Given the description of an element on the screen output the (x, y) to click on. 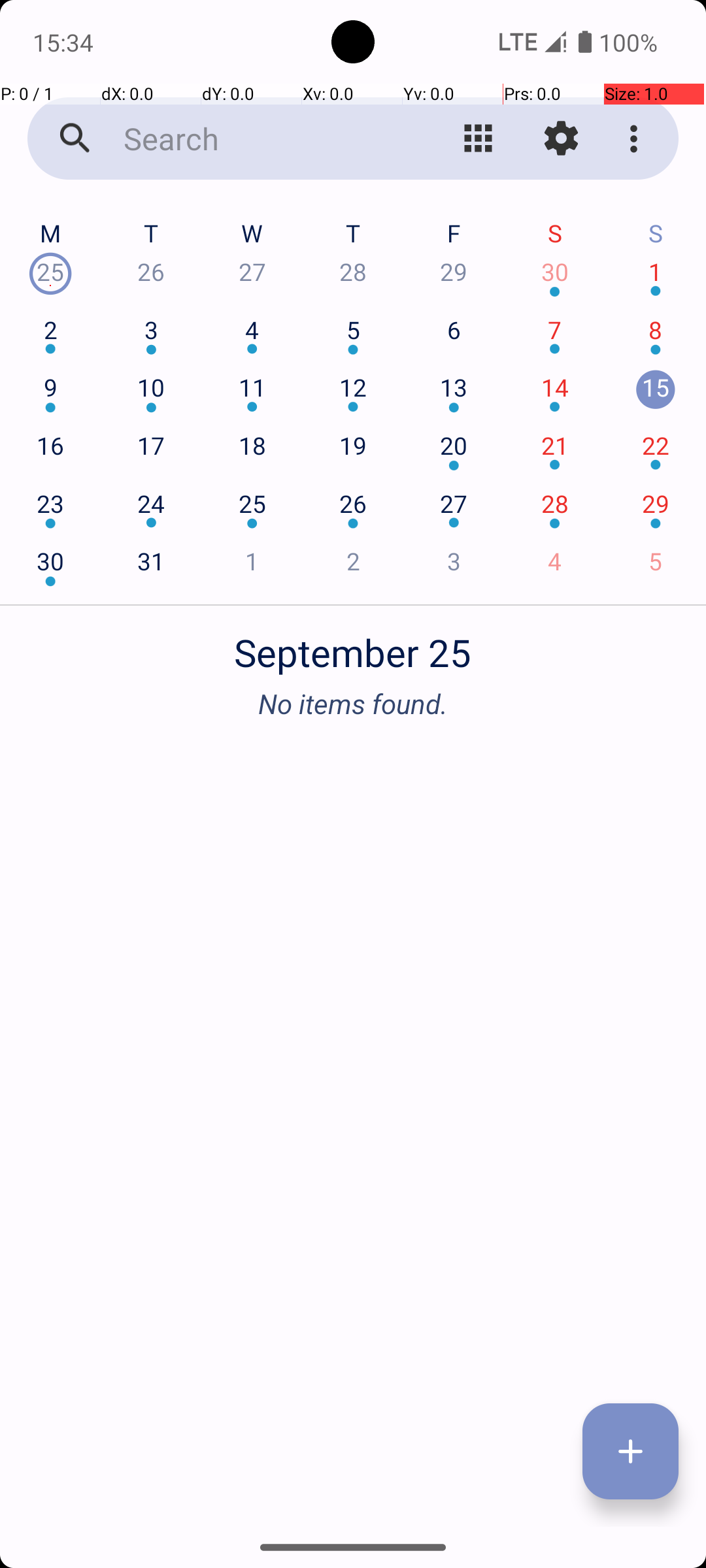
September 25 Element type: android.widget.TextView (352, 644)
